Given the description of an element on the screen output the (x, y) to click on. 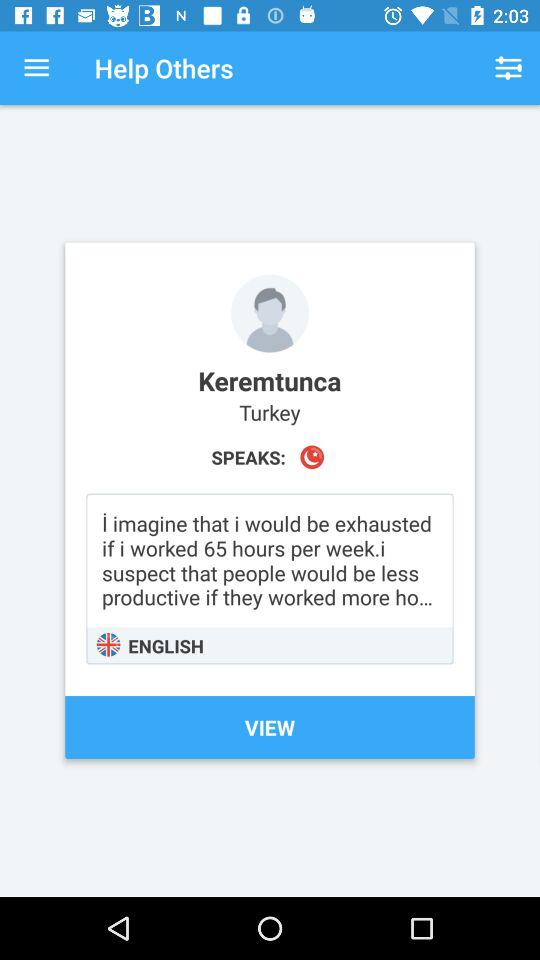
view the chat (269, 578)
